Given the description of an element on the screen output the (x, y) to click on. 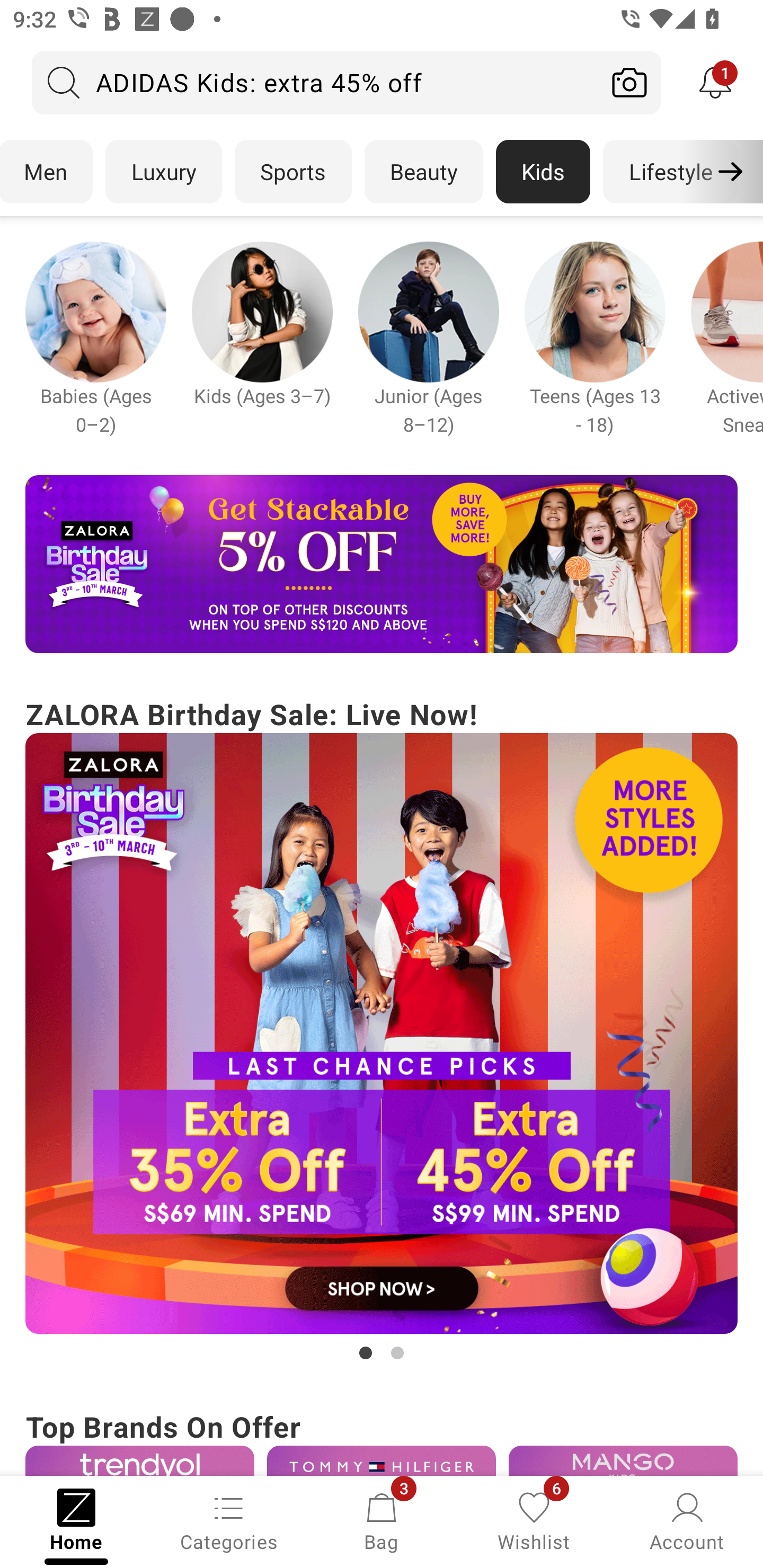
ADIDAS Kids: extra 45% off (314, 82)
Men (46, 171)
Luxury (163, 171)
Sports (293, 171)
Beauty (423, 171)
Kids (542, 171)
Lifestyle (669, 171)
Campaign banner (95, 311)
Campaign banner (261, 311)
Campaign banner (428, 311)
Campaign banner (594, 311)
Campaign banner (381, 564)
ZALORA Birthday Sale: Live Now! Campaign banner (381, 1028)
Campaign banner (381, 1033)
Campaign banner (139, 1460)
Campaign banner (381, 1460)
Campaign banner (622, 1460)
Categories (228, 1519)
Bag, 3 new notifications Bag (381, 1519)
Wishlist, 6 new notifications Wishlist (533, 1519)
Account (686, 1519)
